Given the description of an element on the screen output the (x, y) to click on. 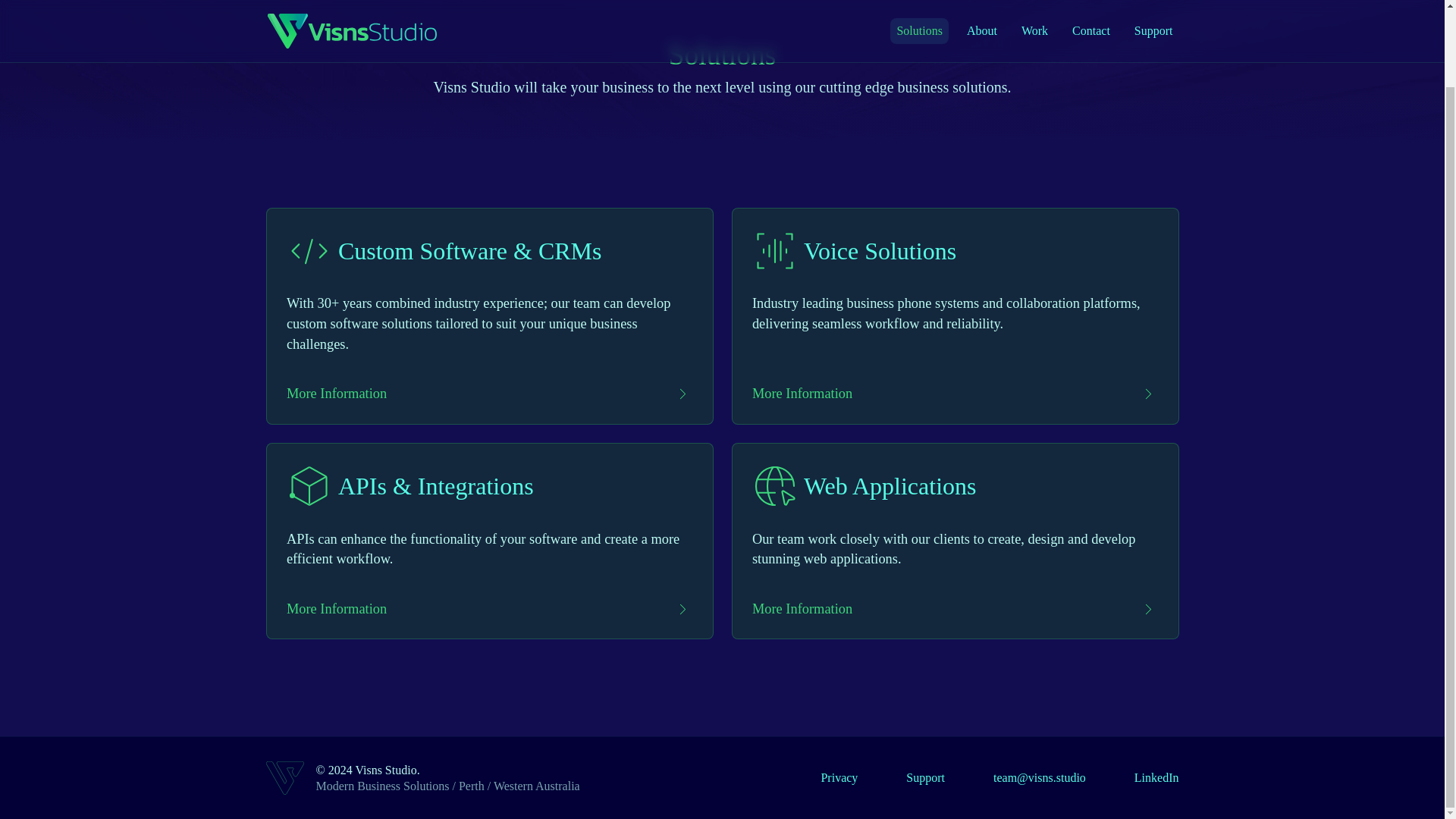
LinkedIn (1156, 777)
Support (924, 777)
Privacy (839, 777)
